Given the description of an element on the screen output the (x, y) to click on. 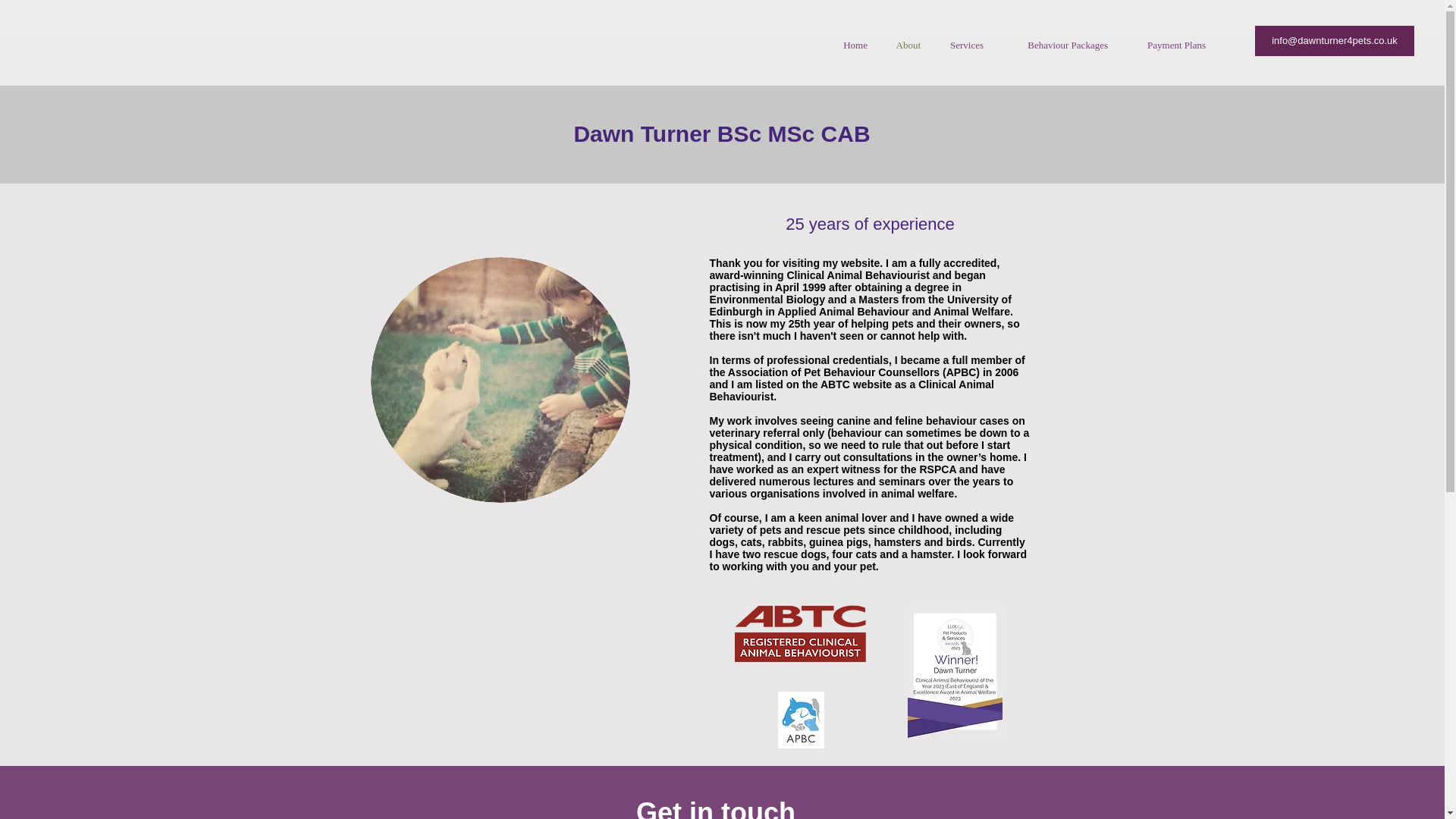
About (905, 44)
Services (962, 44)
abtc.png (799, 633)
Home (852, 44)
Behaviour Packages (1056, 44)
Payment Plans (1168, 44)
